Given the description of an element on the screen output the (x, y) to click on. 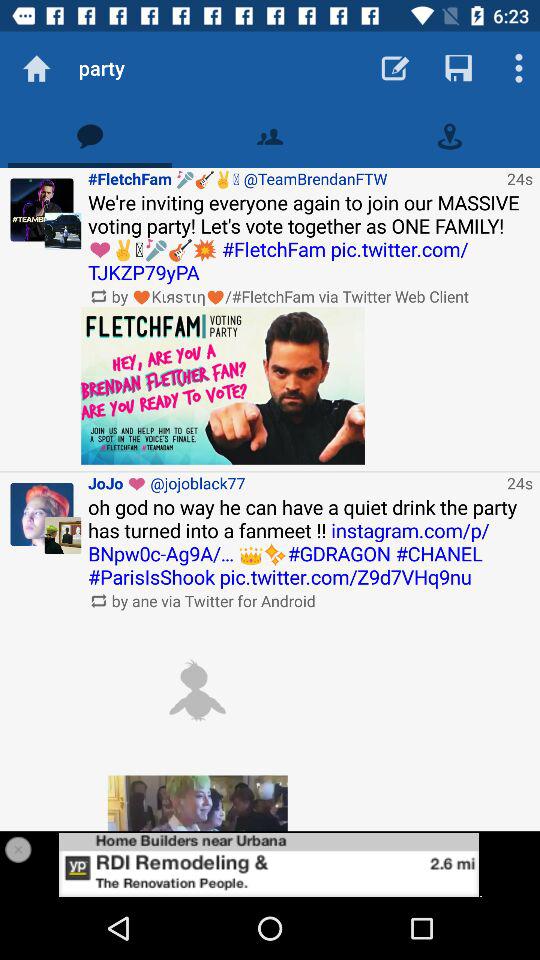
click the icon below the by ane via item (197, 690)
